Given the description of an element on the screen output the (x, y) to click on. 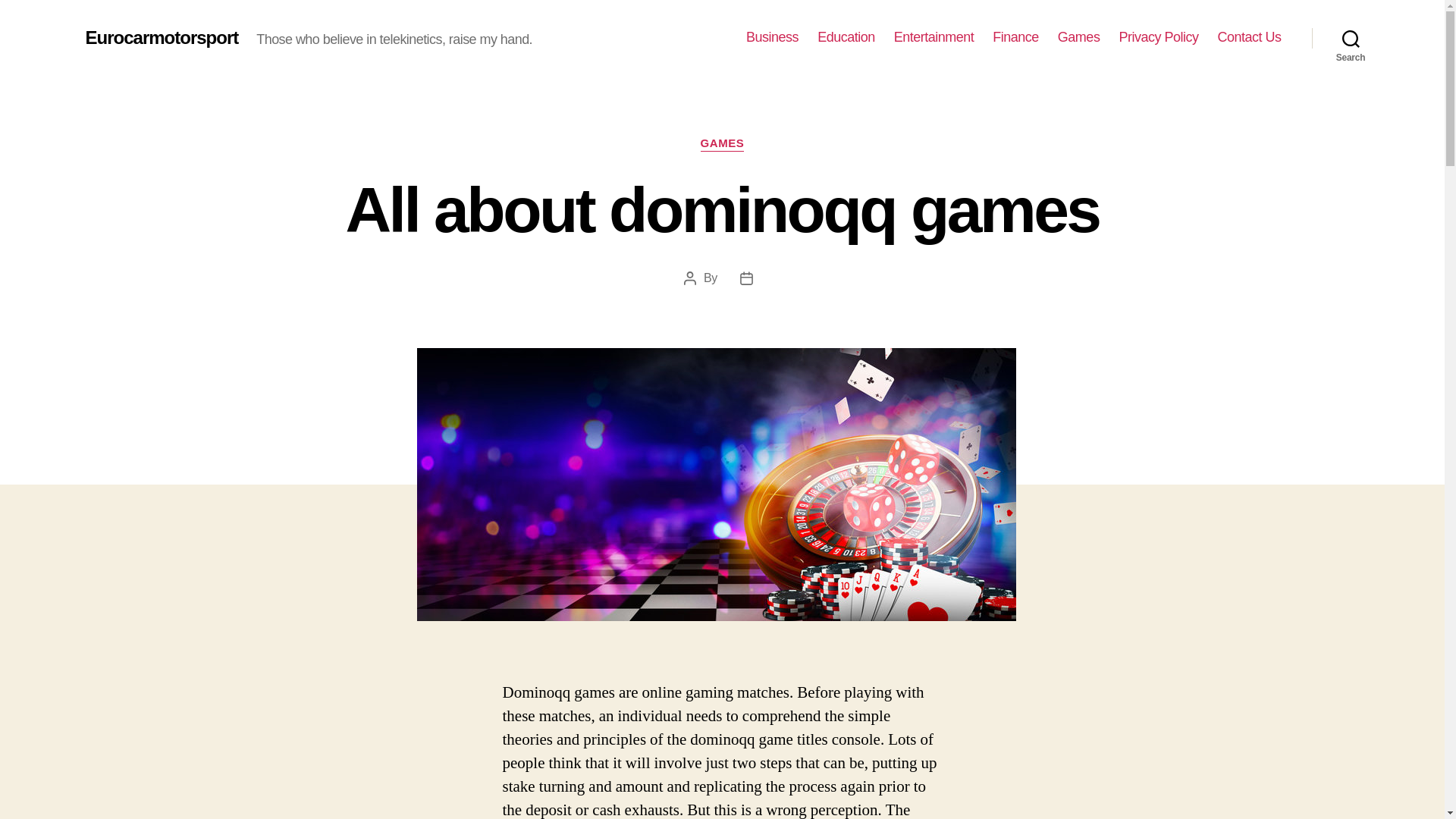
GAMES (722, 143)
Education (845, 37)
Eurocarmotorsport (161, 37)
Business (771, 37)
Privacy Policy (1158, 37)
Finance (1015, 37)
Search (1350, 37)
Contact Us (1249, 37)
Entertainment (933, 37)
Games (1079, 37)
